Given the description of an element on the screen output the (x, y) to click on. 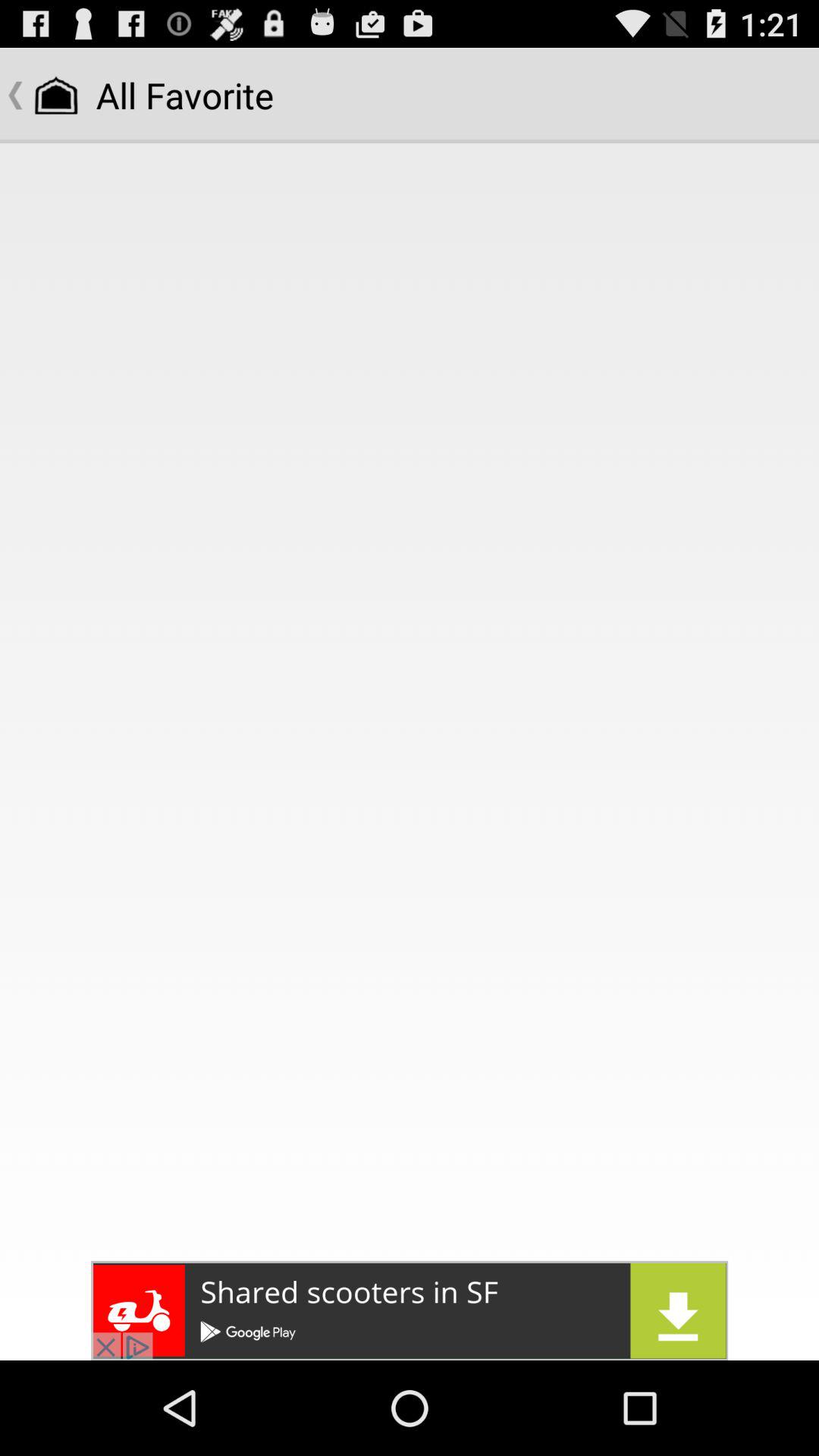
advertisement banner (409, 1310)
